Given the description of an element on the screen output the (x, y) to click on. 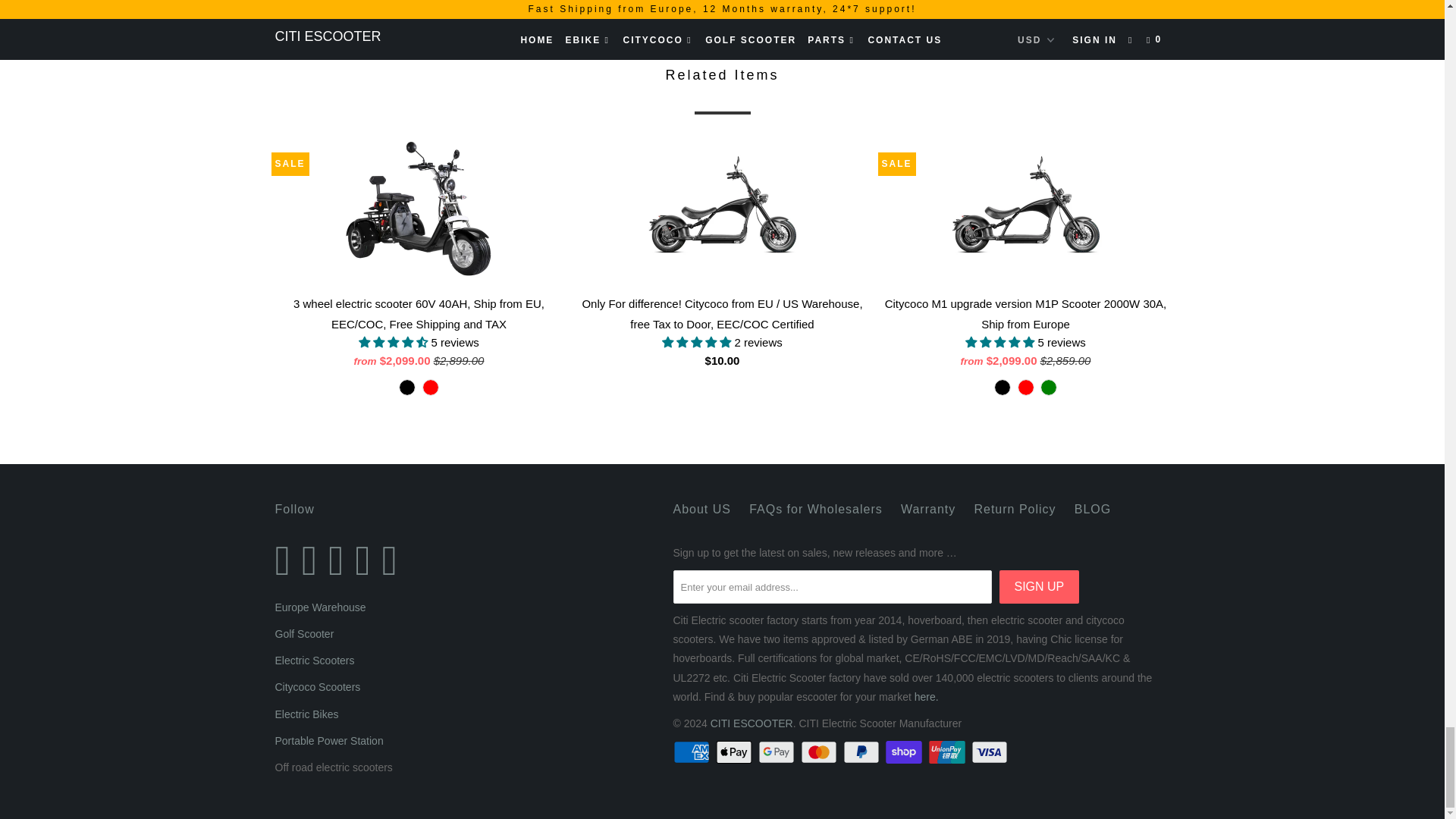
Sign Up (1039, 586)
